Given the description of an element on the screen output the (x, y) to click on. 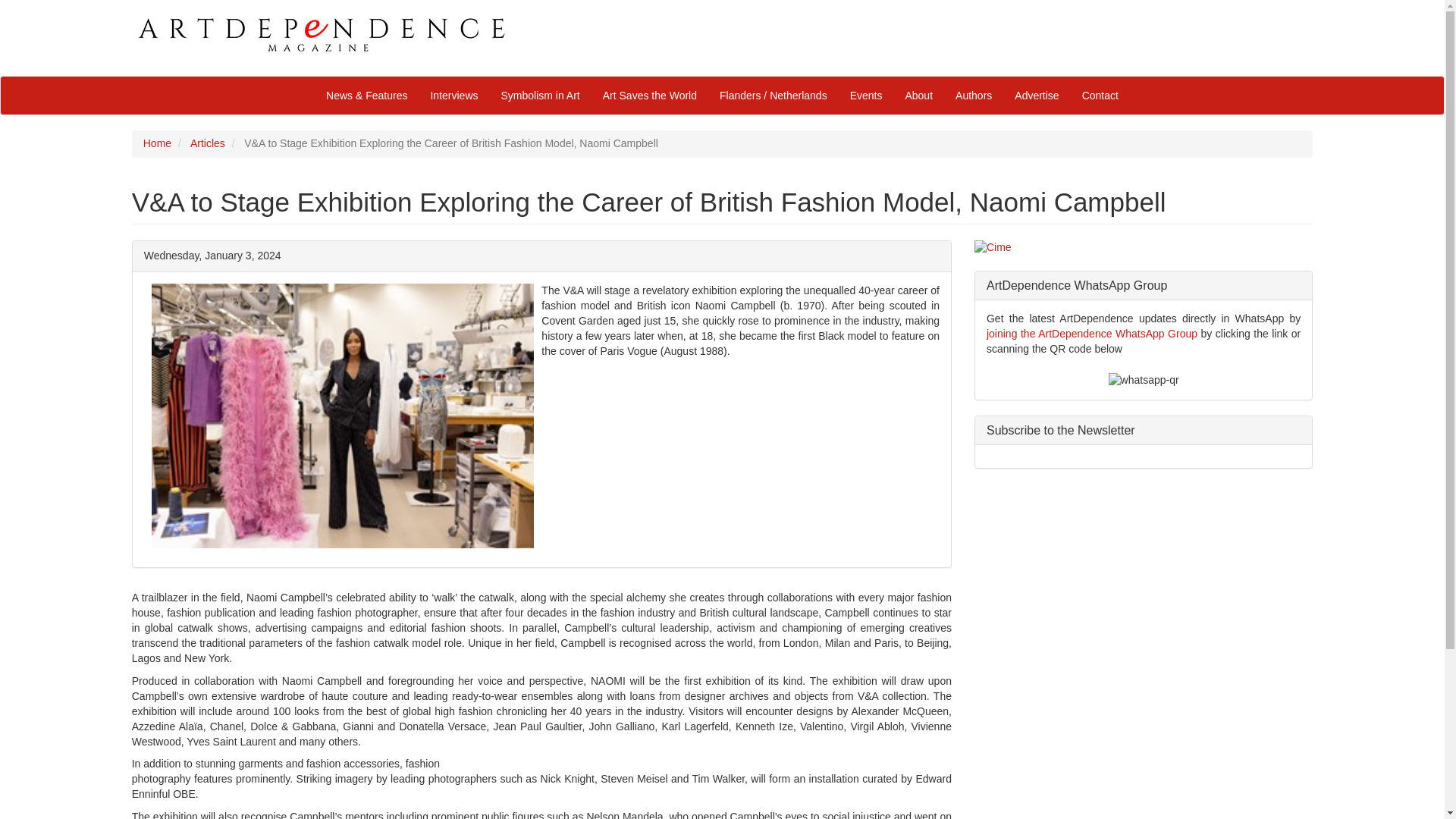
Advertise (1036, 95)
Symbolism in Art (540, 95)
Authors (973, 95)
Contact (1099, 95)
Events (865, 95)
joining the ArtDependence WhatsApp Group (1091, 333)
Home (156, 143)
Articles (207, 143)
About (918, 95)
WhatsApp (1091, 333)
